Given the description of an element on the screen output the (x, y) to click on. 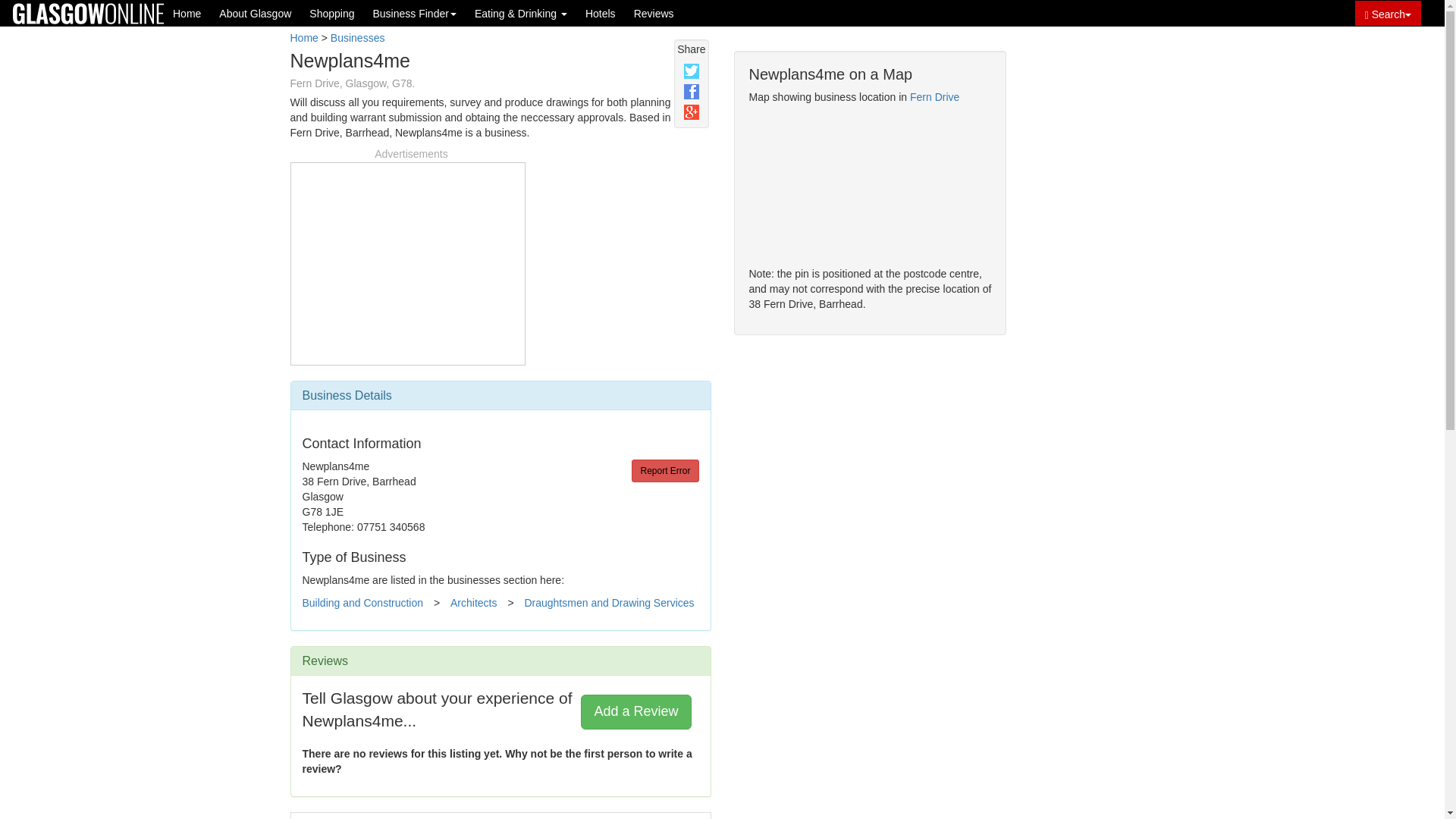
Advertisement (407, 261)
Shopping (330, 12)
Home (303, 37)
Reviews (653, 12)
Business Finder (413, 12)
Add a Review (635, 711)
Building and Construction (362, 603)
Search (1388, 12)
Report Error (664, 470)
Report Error (664, 470)
Draughtsmen and Drawing Services (609, 603)
Home (186, 12)
Businesses (357, 37)
Architects (472, 603)
About Glasgow (254, 12)
